Given the description of an element on the screen output the (x, y) to click on. 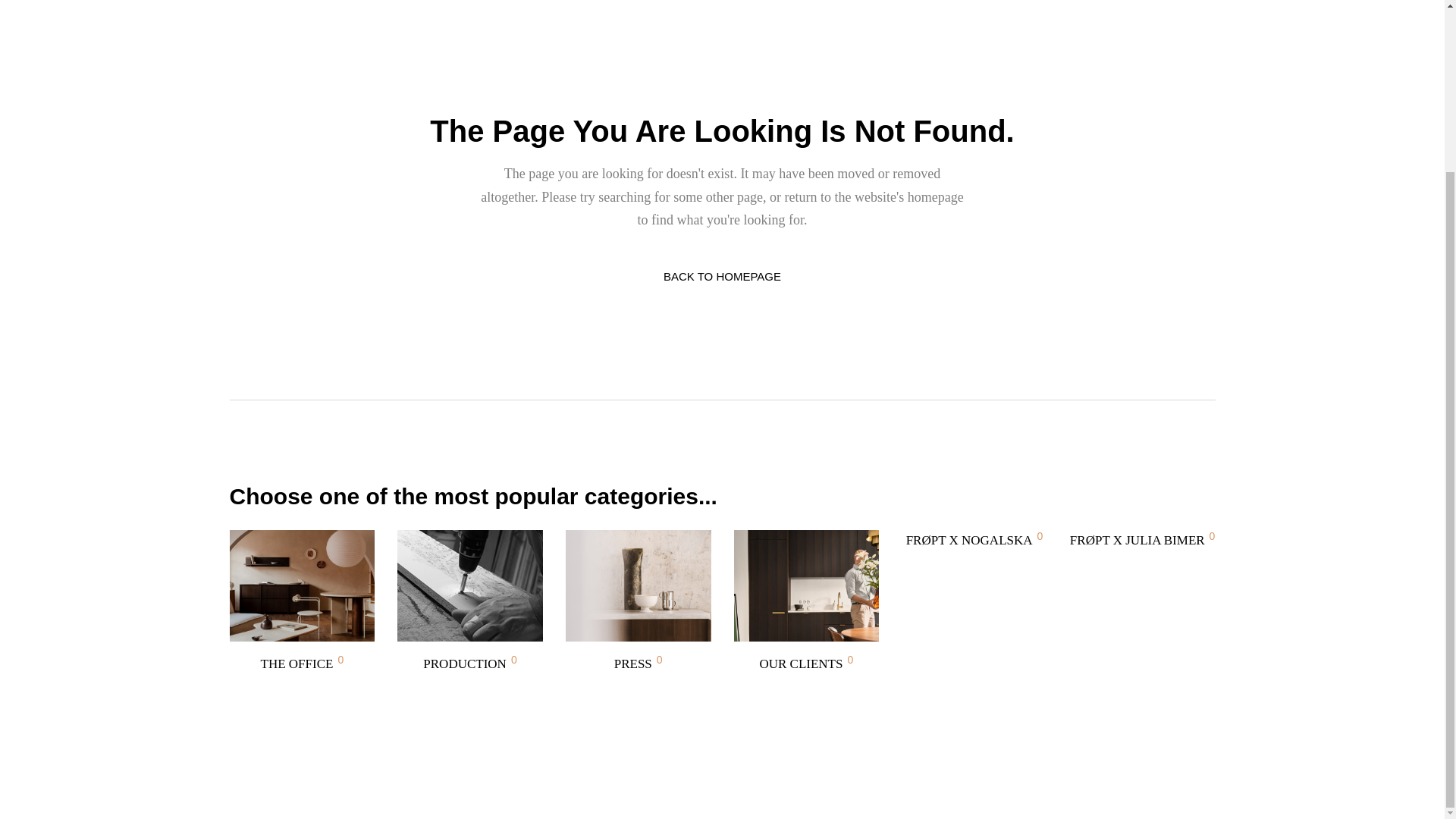
BACK TO HOMEPAGE (721, 276)
THE OFFICE0 (302, 601)
PRODUCTION0 (470, 601)
